Given the description of an element on the screen output the (x, y) to click on. 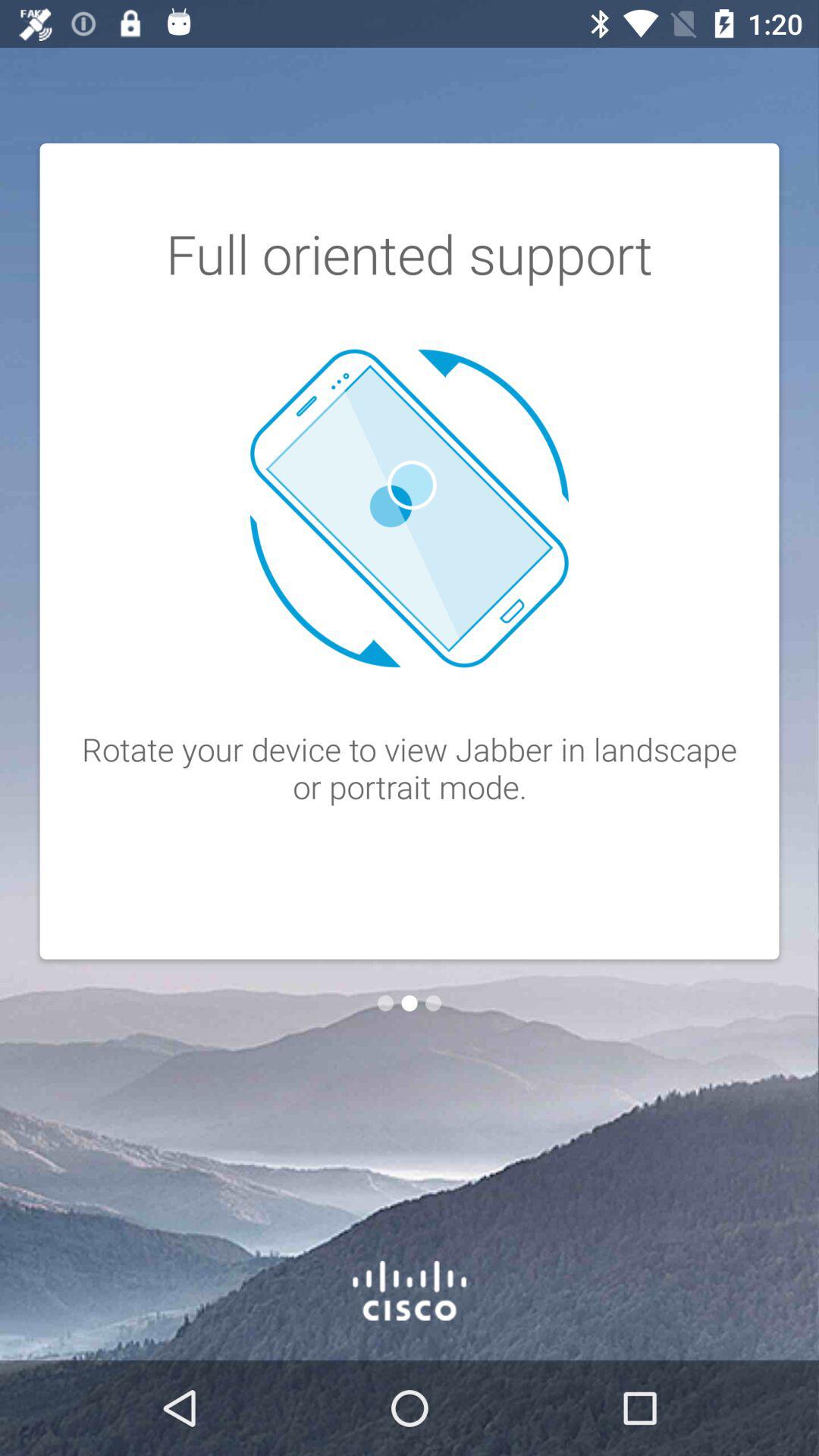
click icon below the rotate your device (409, 1003)
